Given the description of an element on the screen output the (x, y) to click on. 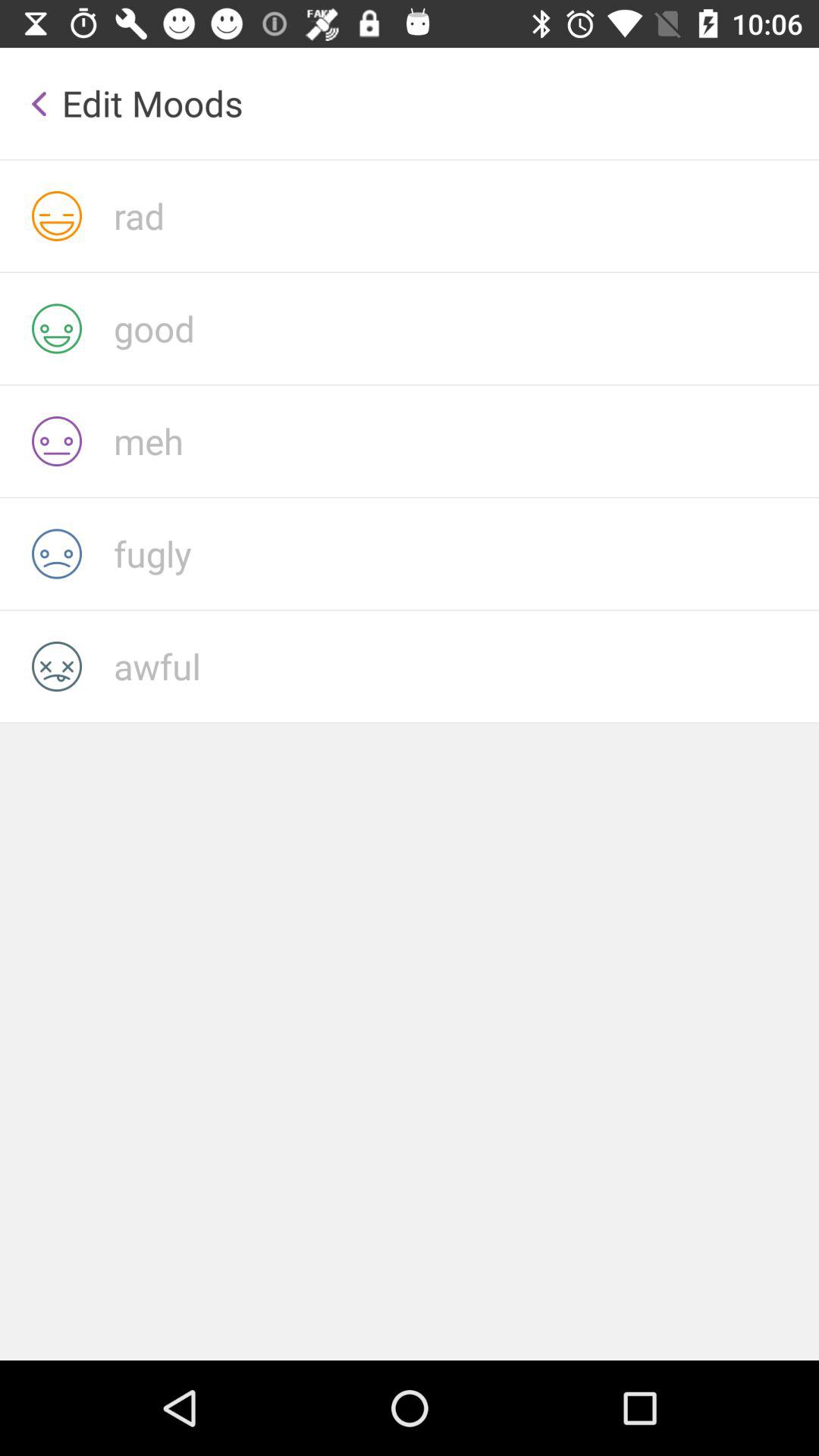
select rad (466, 215)
